Given the description of an element on the screen output the (x, y) to click on. 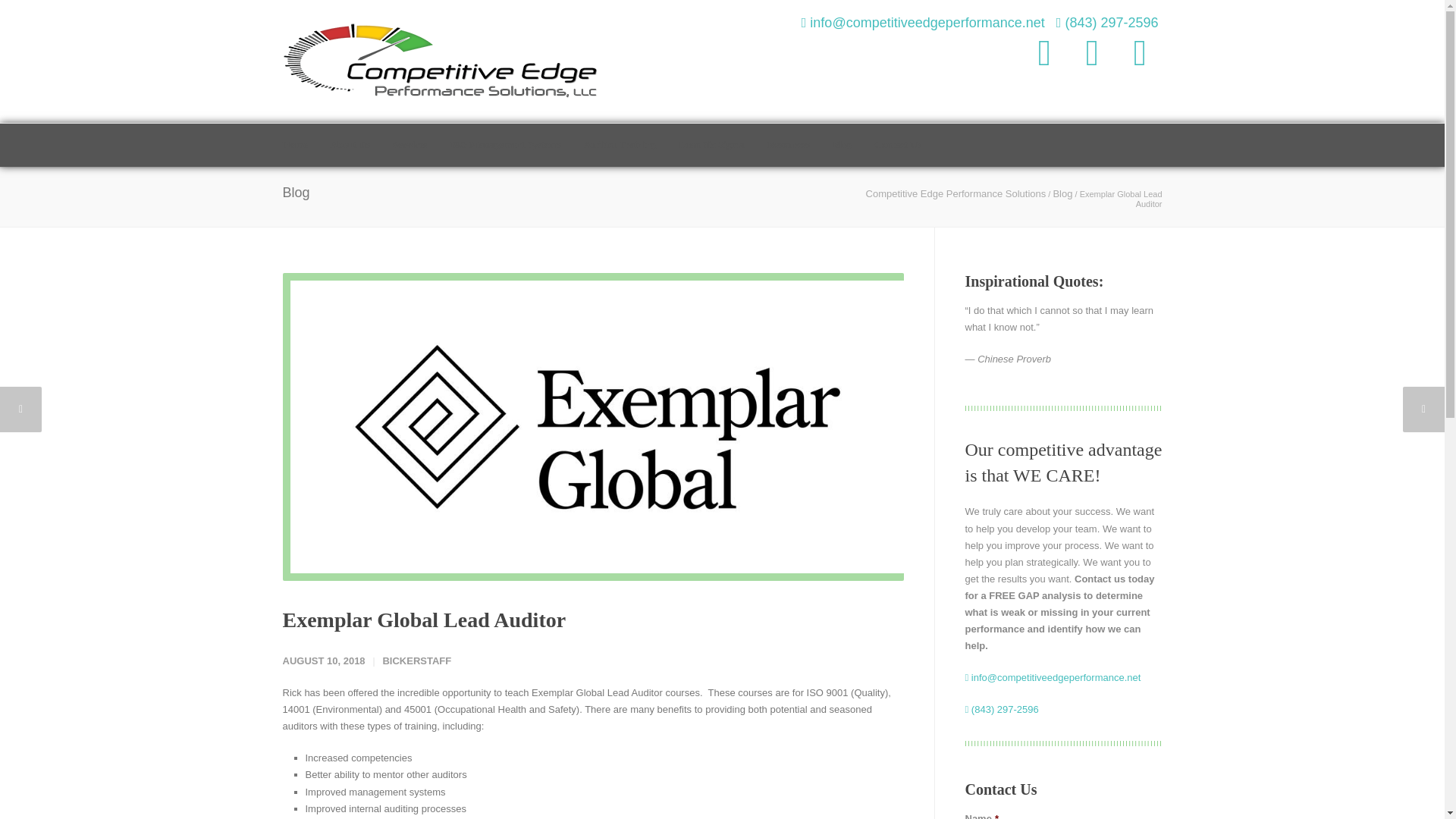
Resources (799, 145)
Contact Us (909, 145)
Auditor Training (630, 145)
Home (306, 145)
Services (421, 145)
Competitive Edge Performance Solutions (956, 193)
Lean Six Sigma (722, 145)
BICKERSTAFF (416, 660)
Exemplar Global Lead Auditor (424, 619)
ISO Management Systems (517, 145)
